Given the description of an element on the screen output the (x, y) to click on. 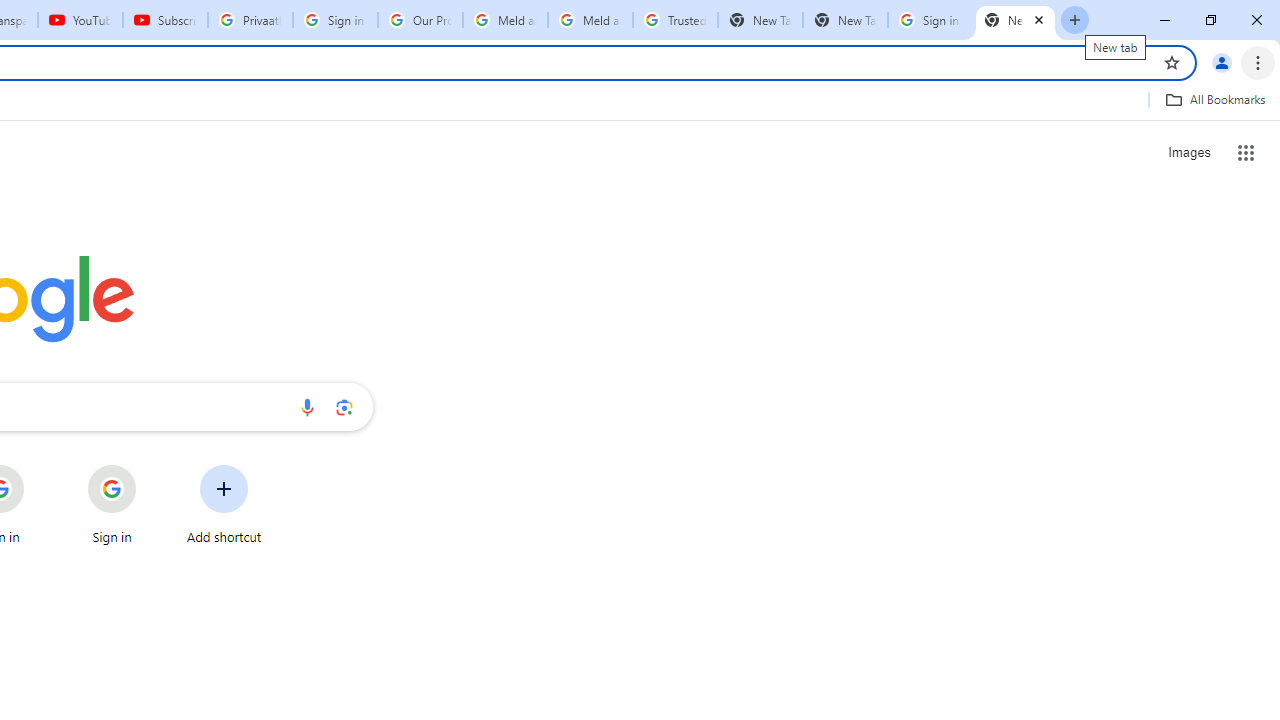
Subscriptions - YouTube (165, 20)
YouTube (80, 20)
Trusted Information and Content - Google Safety Center (675, 20)
More actions for Sign in shortcut (152, 466)
New Tab (845, 20)
